Given the description of an element on the screen output the (x, y) to click on. 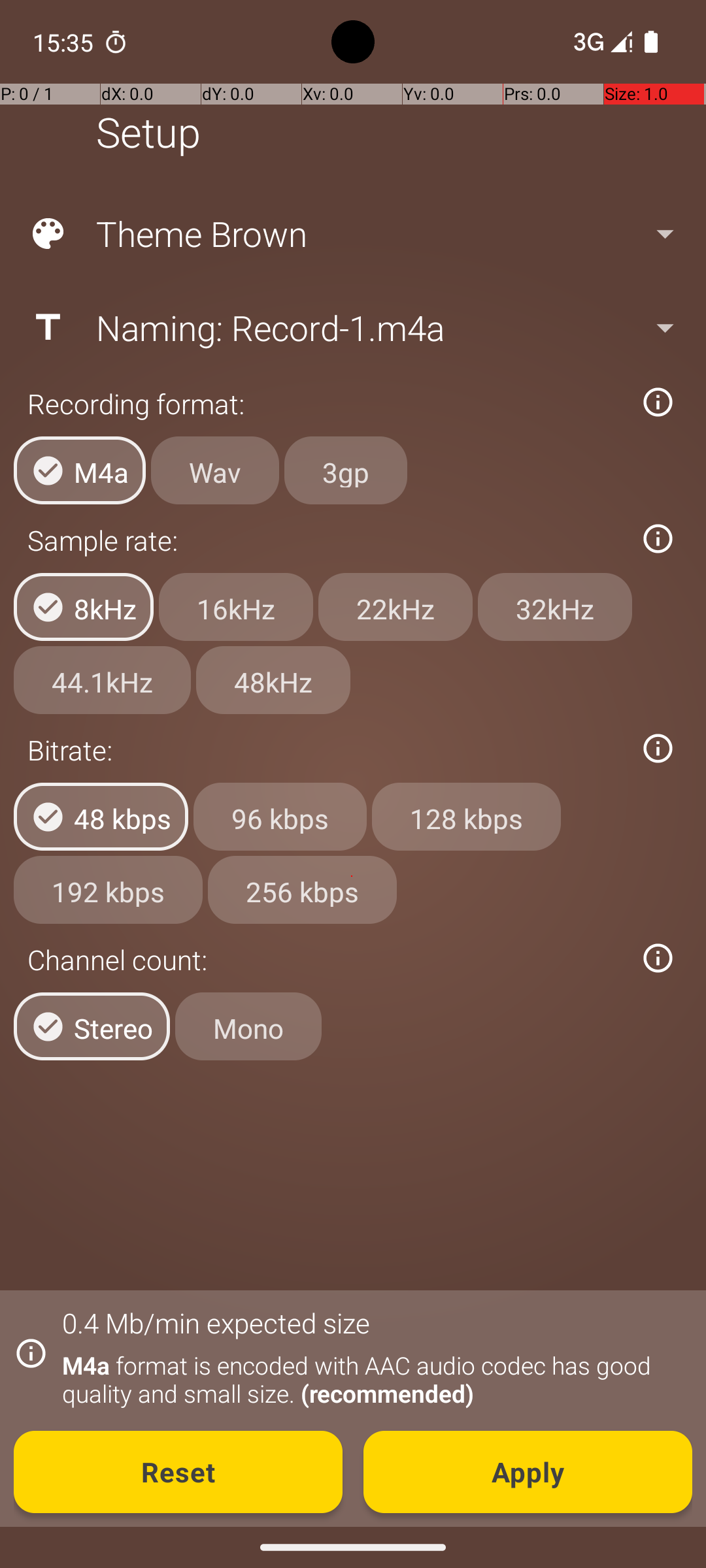
0.4 Mb/min expected size Element type: android.widget.TextView (215, 1322)
Theme Brown Element type: android.widget.TextView (352, 233)
